Given the description of an element on the screen output the (x, y) to click on. 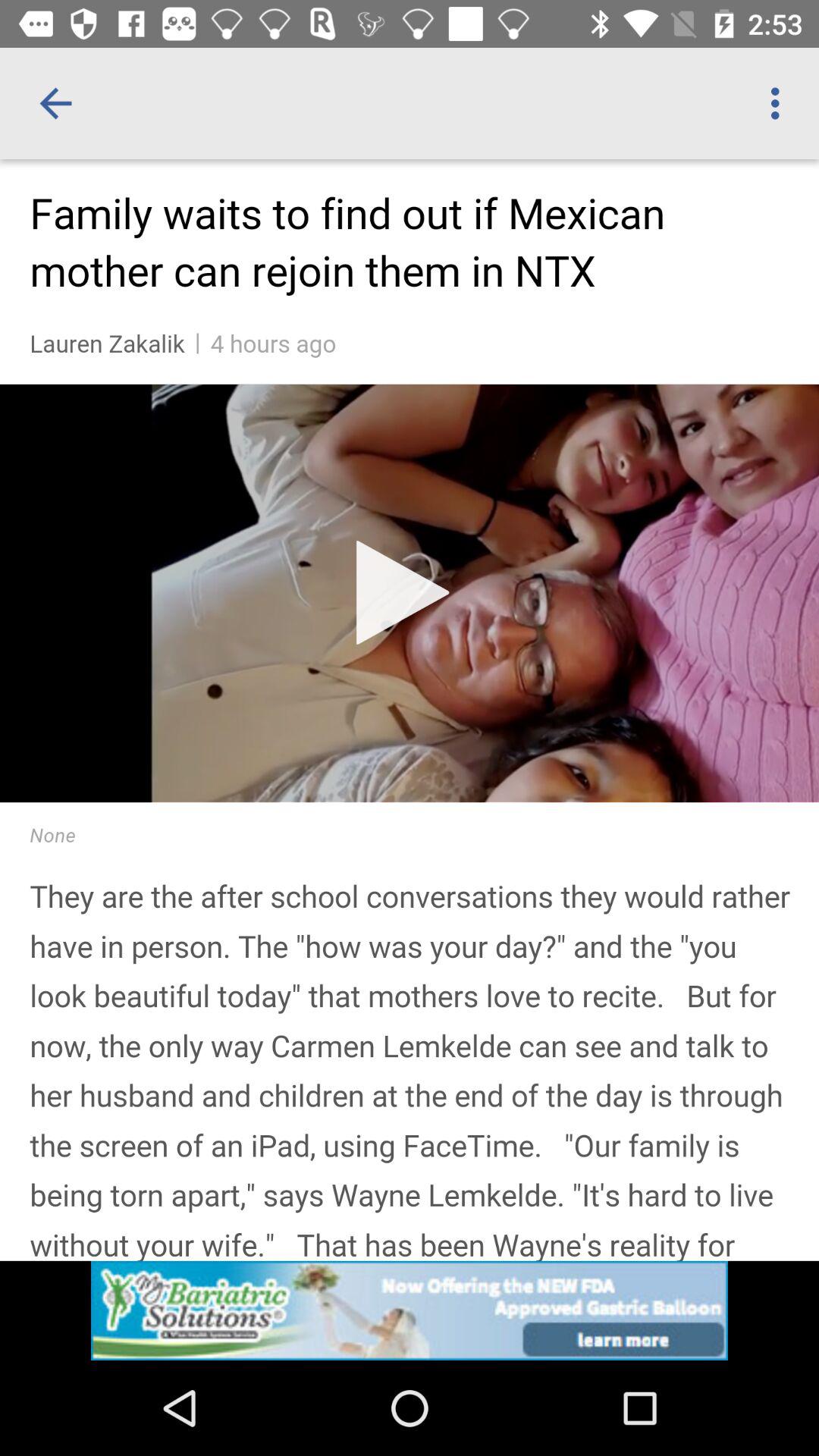
go to advertisement link (409, 1310)
